Given the description of an element on the screen output the (x, y) to click on. 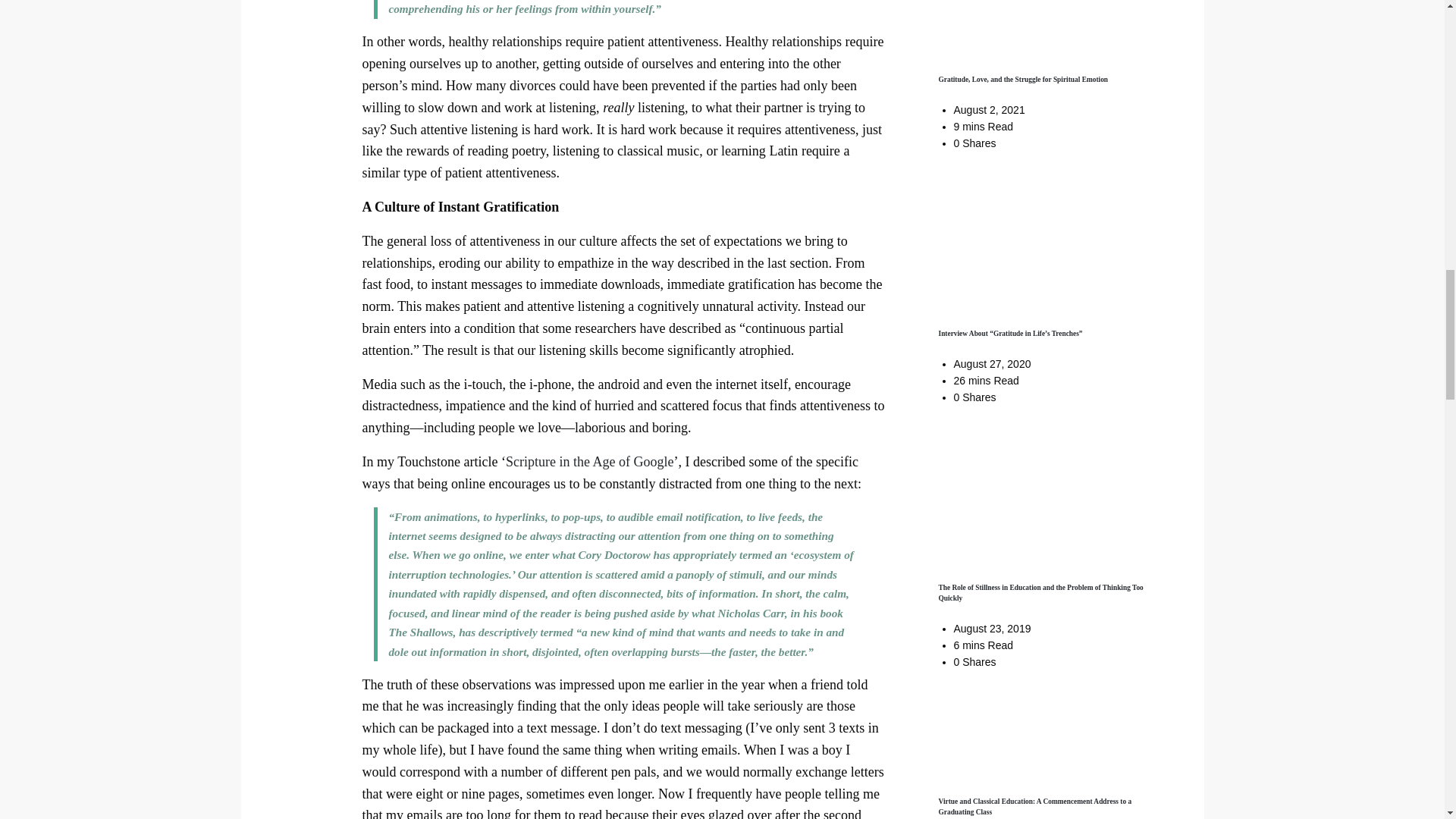
Gratitude, Love, and the Struggle for Spiritual Emotion (1023, 79)
Scripture in the Age of Google (589, 461)
Gratitude, Love, and the Struggle for Spiritual Emotion (1023, 79)
